Given the description of an element on the screen output the (x, y) to click on. 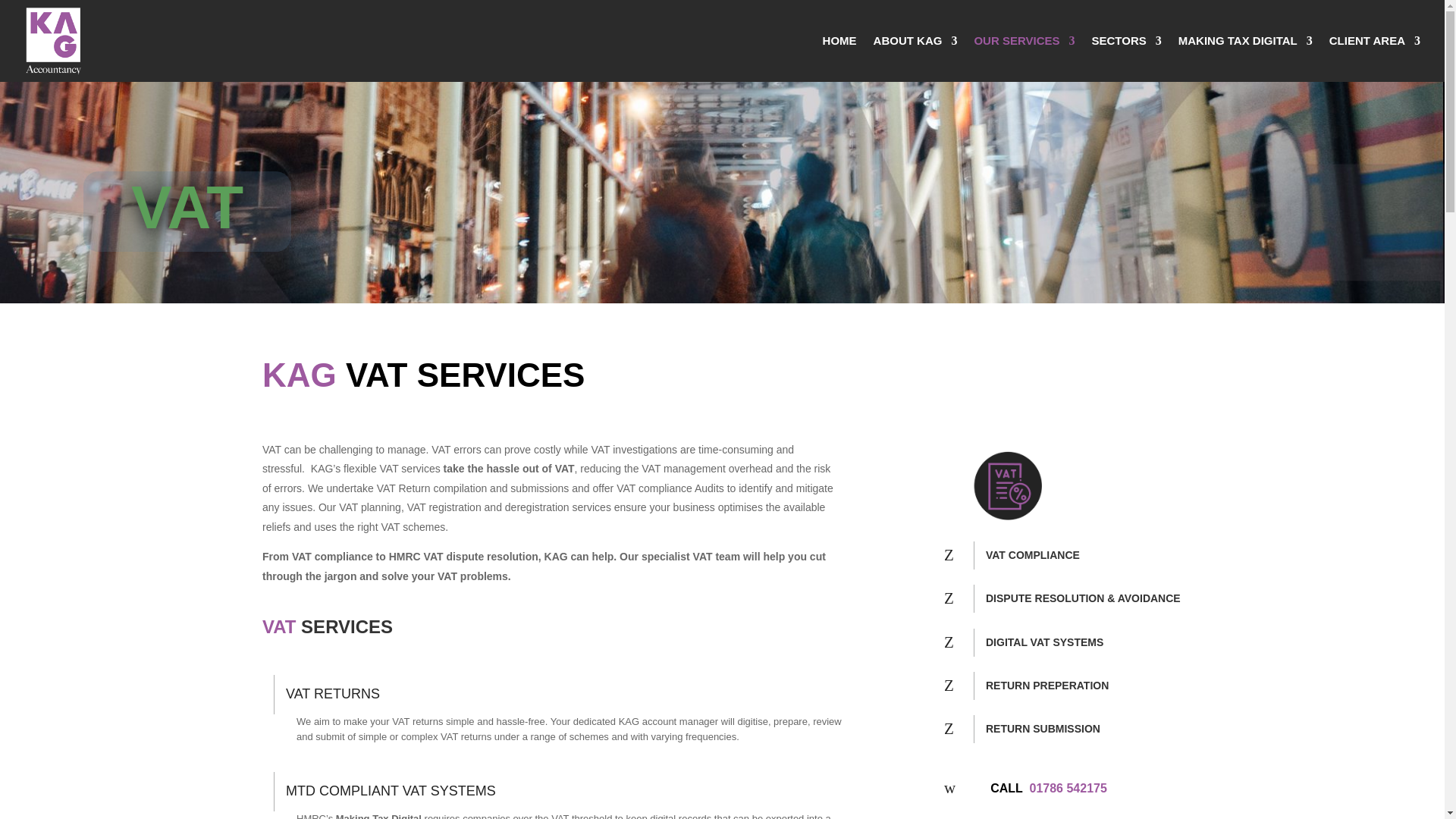
ABOUT KAG (915, 58)
CLIENT AREA (1375, 58)
OUR SERVICES (1024, 58)
SECTORS (1126, 58)
MAKING TAX DIGITAL (1245, 58)
KAG VAT and BookKeeping services (1007, 485)
